Given the description of an element on the screen output the (x, y) to click on. 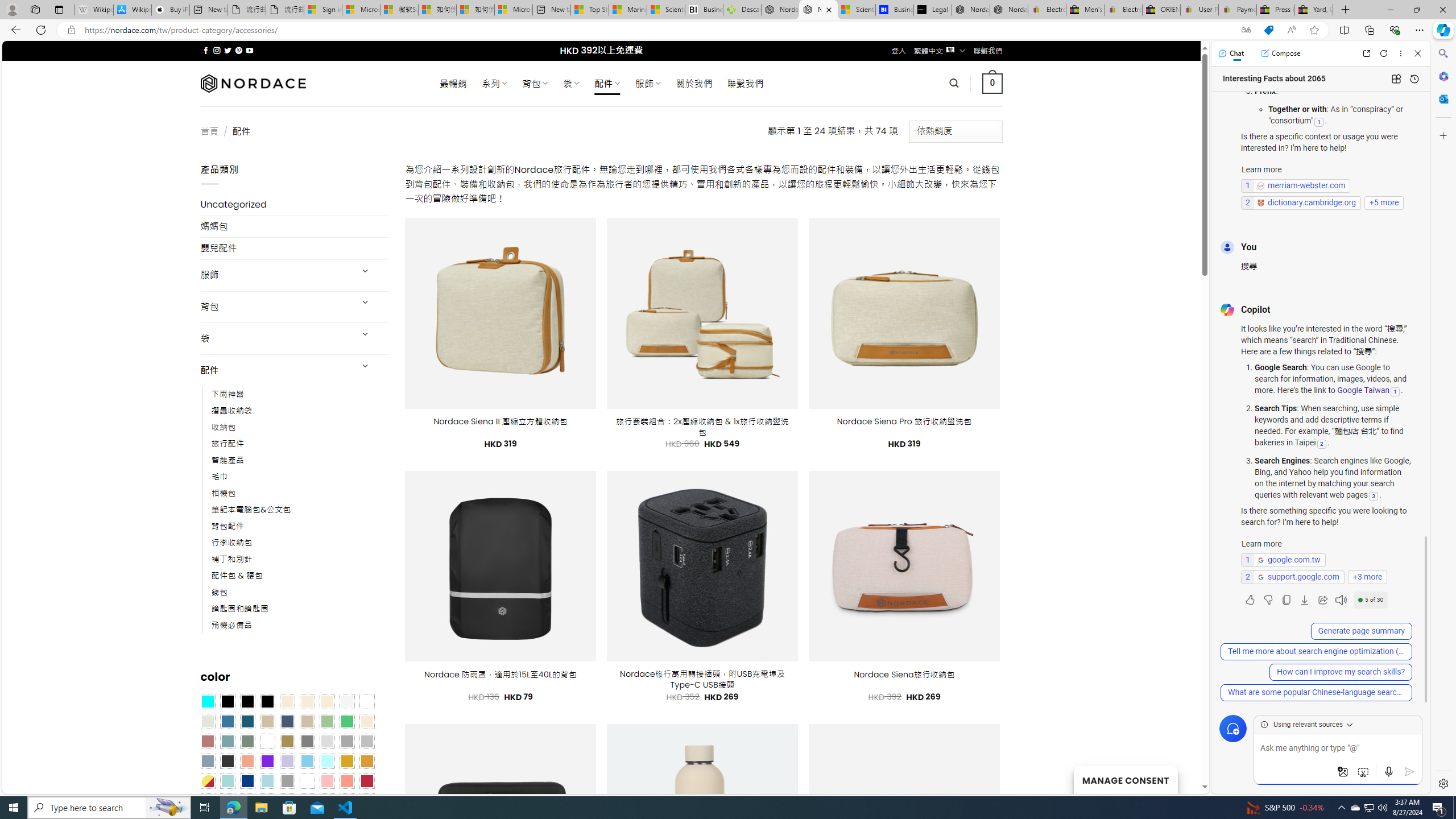
Uncategorized (294, 204)
